Given the description of an element on the screen output the (x, y) to click on. 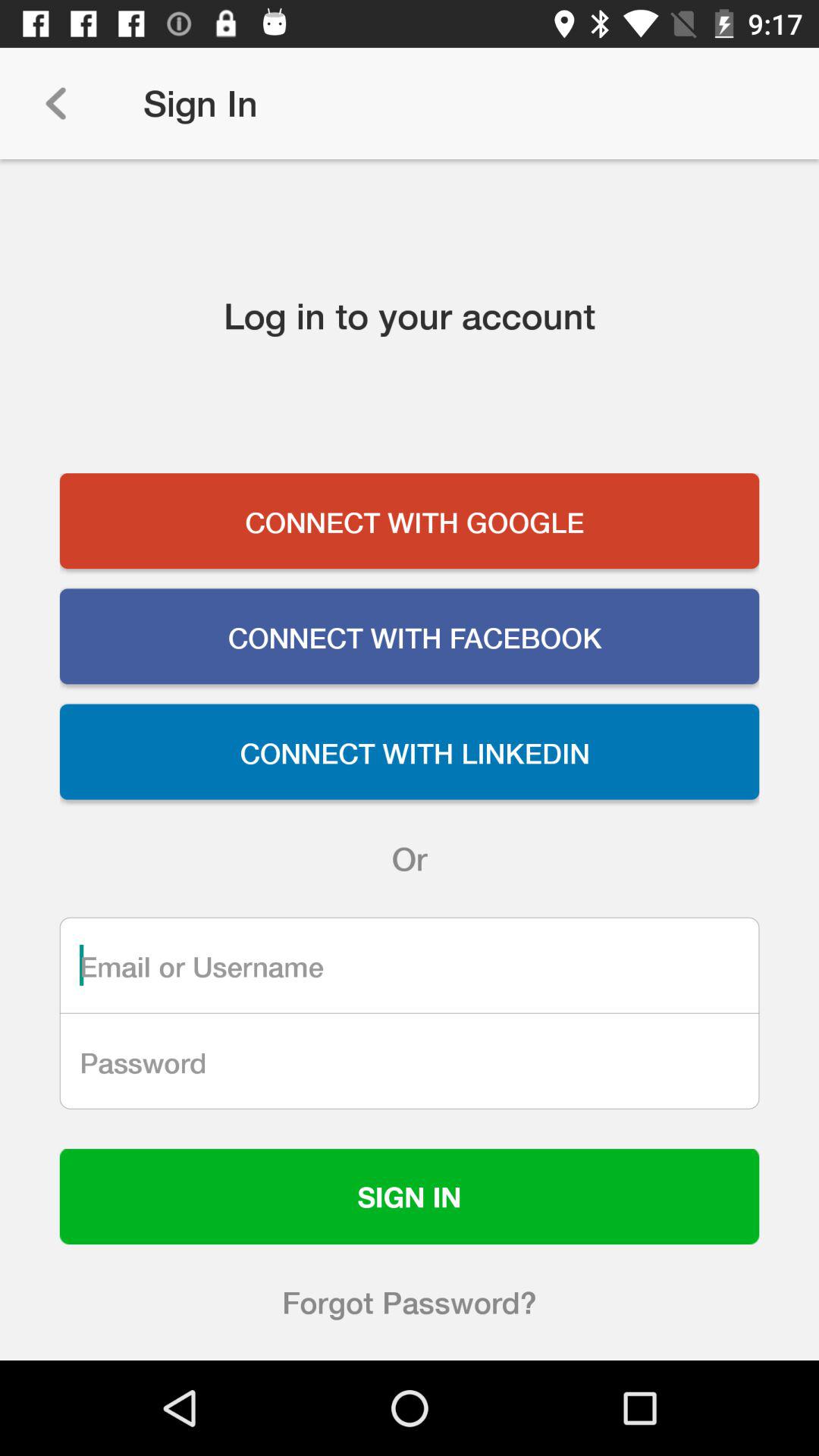
tap the icon to the left of sign in icon (55, 103)
